Given the description of an element on the screen output the (x, y) to click on. 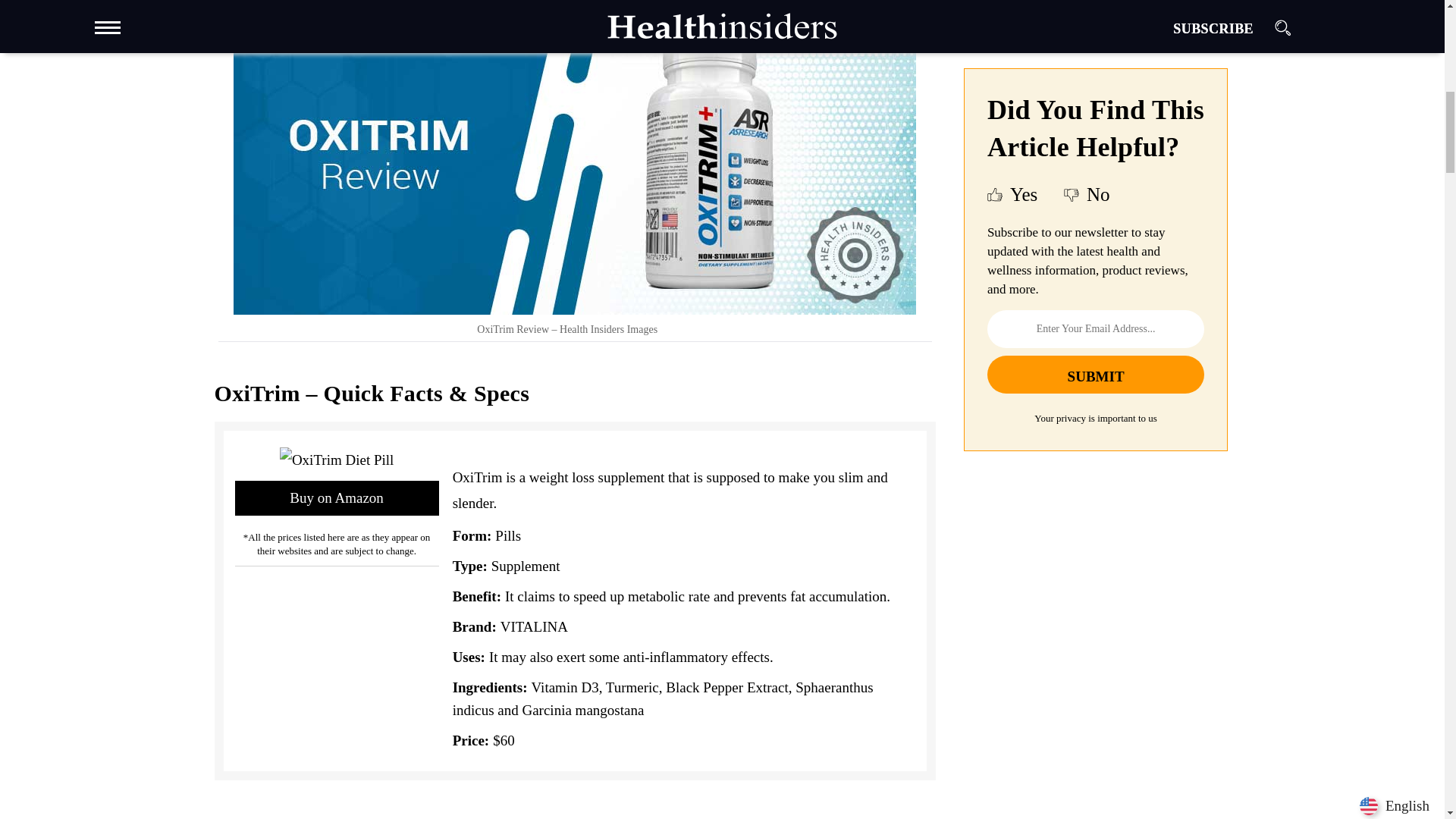
Submit (1095, 186)
